Given the description of an element on the screen output the (x, y) to click on. 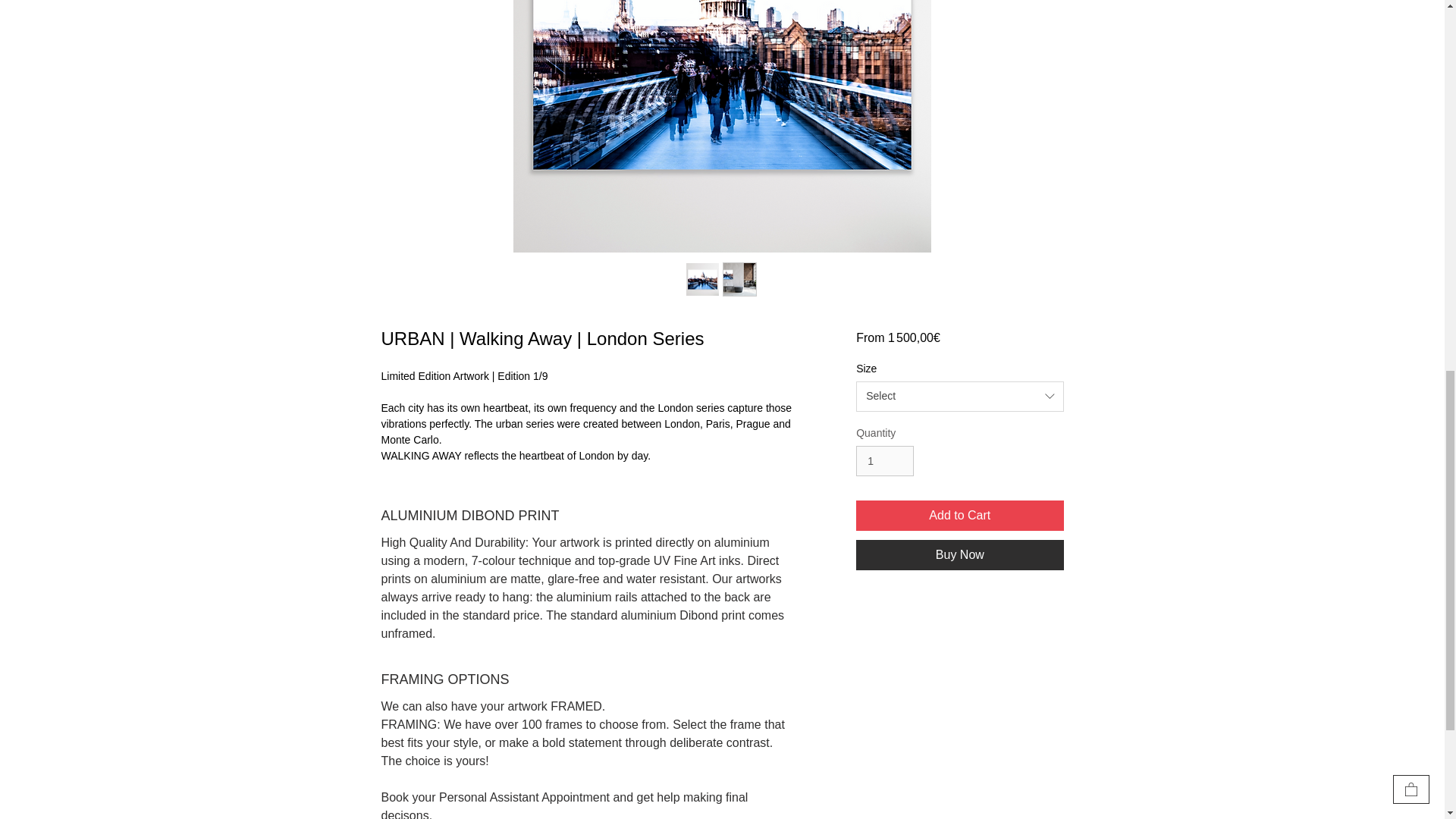
Select (959, 396)
1 (885, 460)
Buy Now (959, 554)
Add to Cart (959, 515)
